Given the description of an element on the screen output the (x, y) to click on. 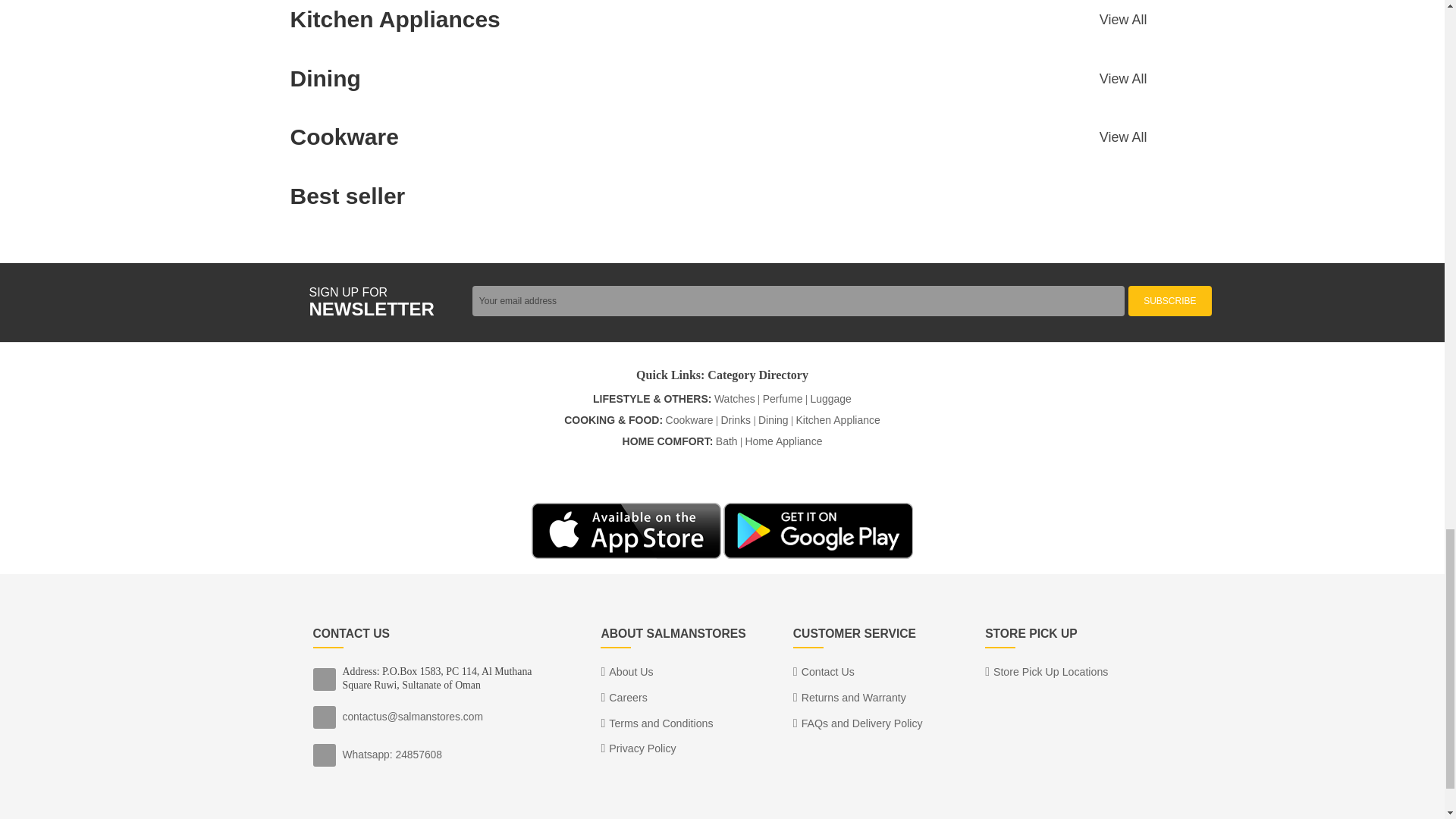
Your email address (797, 300)
